Given the description of an element on the screen output the (x, y) to click on. 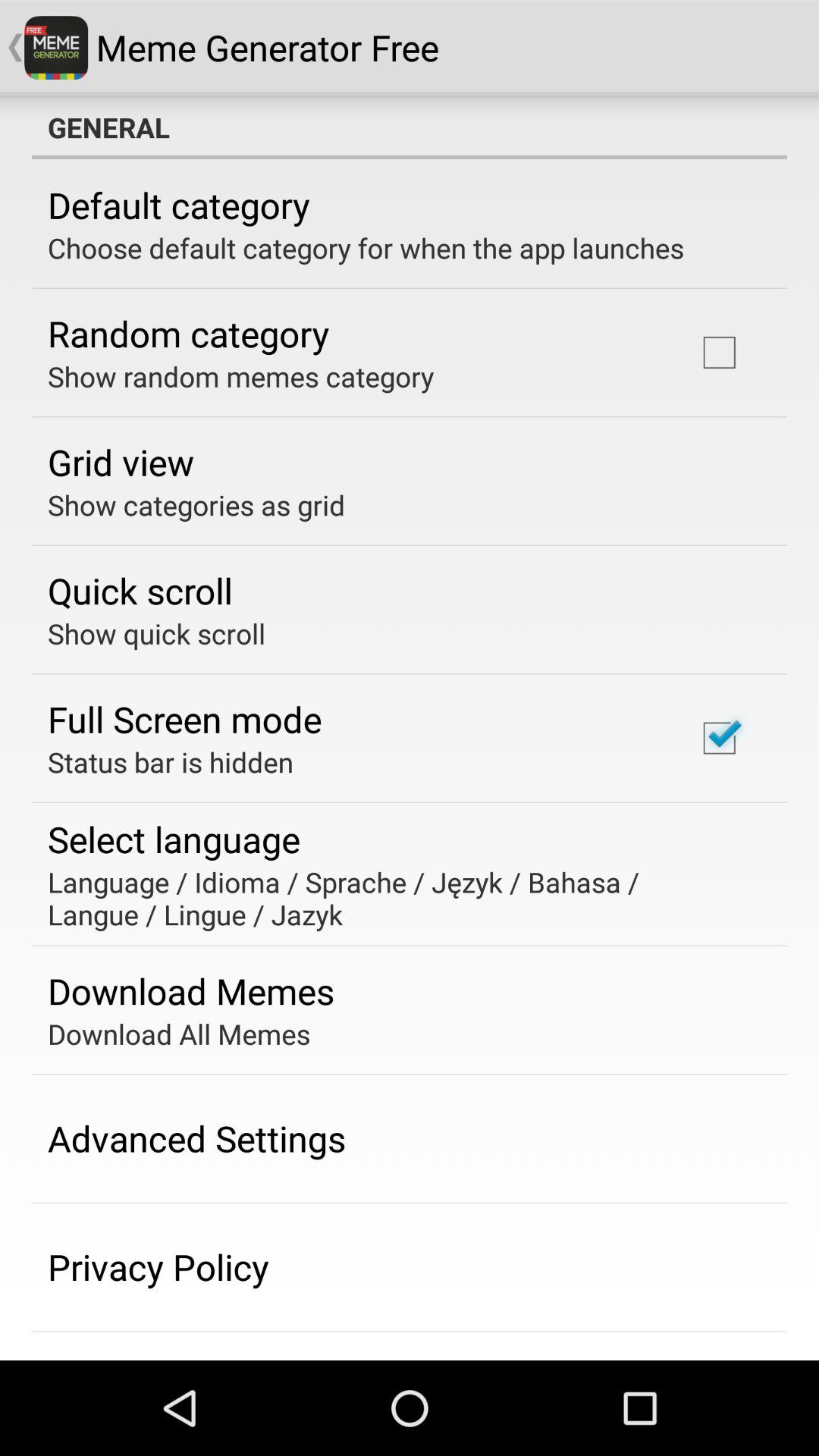
swipe until grid view app (120, 461)
